Given the description of an element on the screen output the (x, y) to click on. 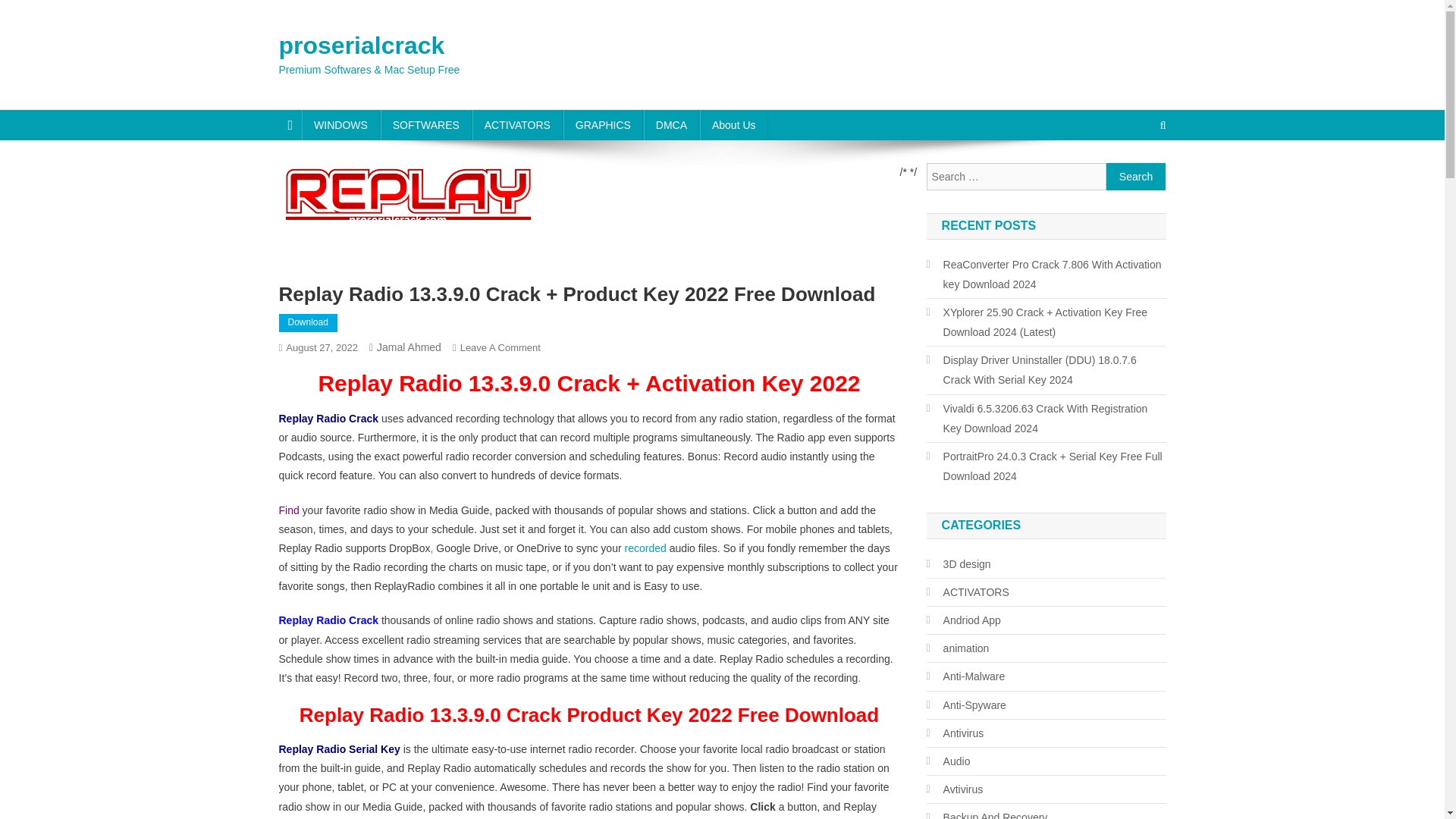
proserialcrack (362, 44)
Download (308, 322)
About Us (734, 124)
ACTIVATORS (516, 124)
Search (1136, 176)
Replay Radio Serial Key (339, 748)
SOFTWARES (425, 124)
WINDOWS (340, 124)
August 27, 2022 (321, 347)
Jamal Ahmed (409, 346)
Search (1133, 175)
DMCA (670, 124)
recorded (645, 548)
Search (1136, 176)
GRAPHICS (603, 124)
